Given the description of an element on the screen output the (x, y) to click on. 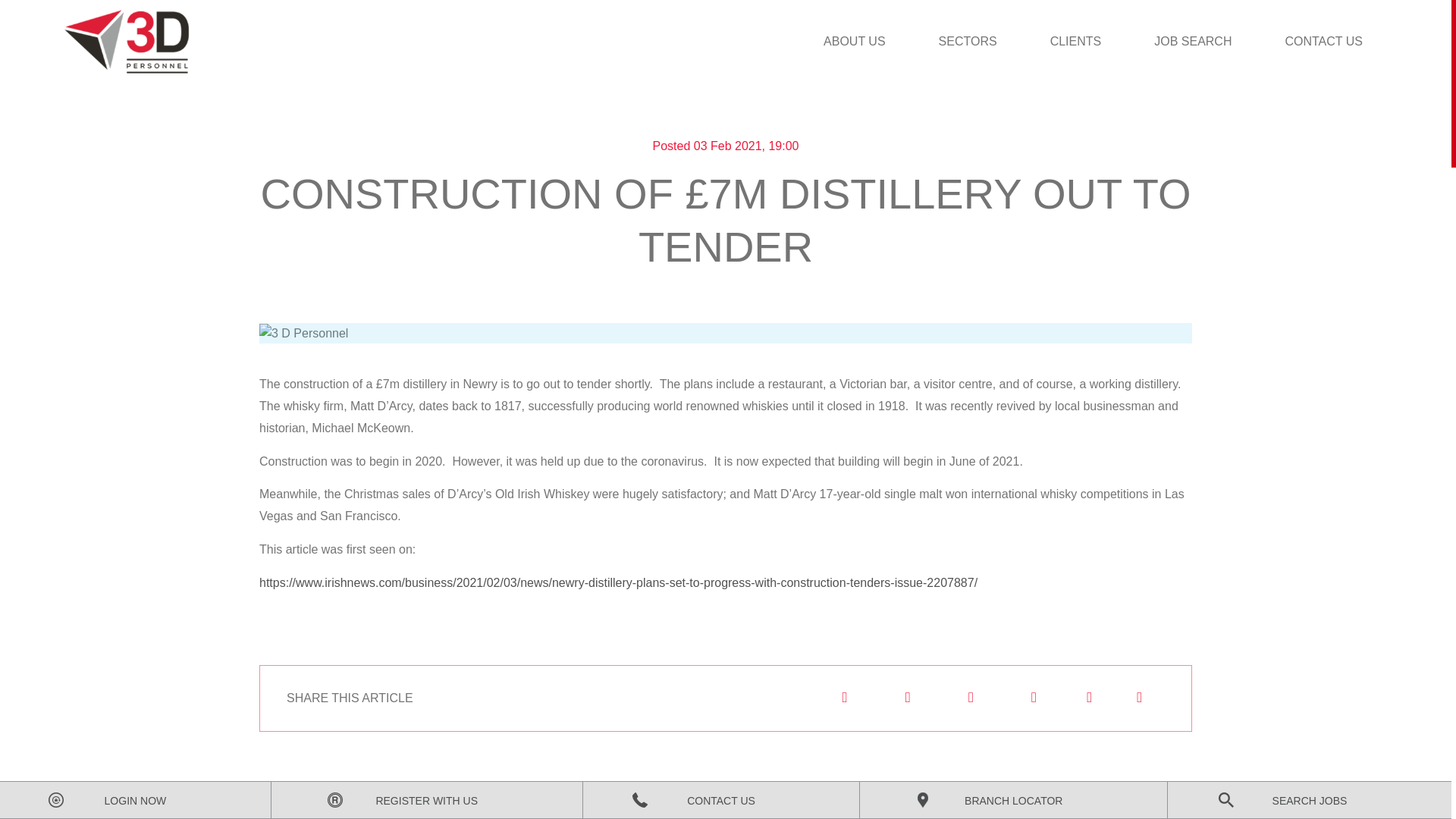
LinkedIn (906, 697)
CLIENTS (1075, 41)
Facebook (969, 697)
Email (843, 697)
CONTACT US (1323, 41)
whatsApp (1032, 697)
JOB SEARCH (1191, 41)
ABOUT US (854, 41)
SECTORS (967, 41)
